Given the description of an element on the screen output the (x, y) to click on. 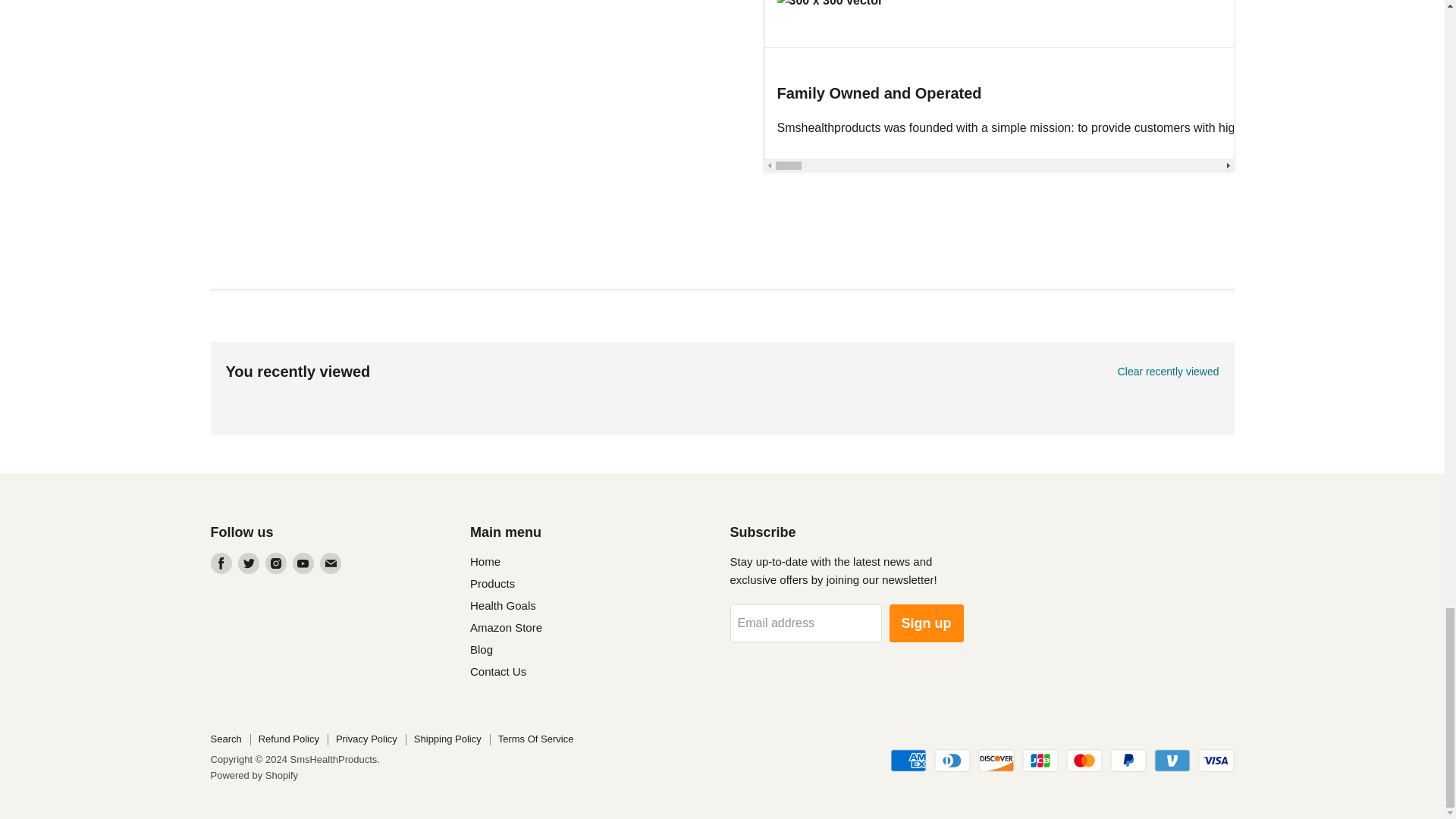
Youtube (303, 563)
American Express (907, 760)
Instagram (275, 563)
Discover (996, 760)
JCB (1040, 760)
Twitter (248, 563)
Facebook (221, 563)
Diners Club (952, 760)
Email (330, 563)
